Given the description of an element on the screen output the (x, y) to click on. 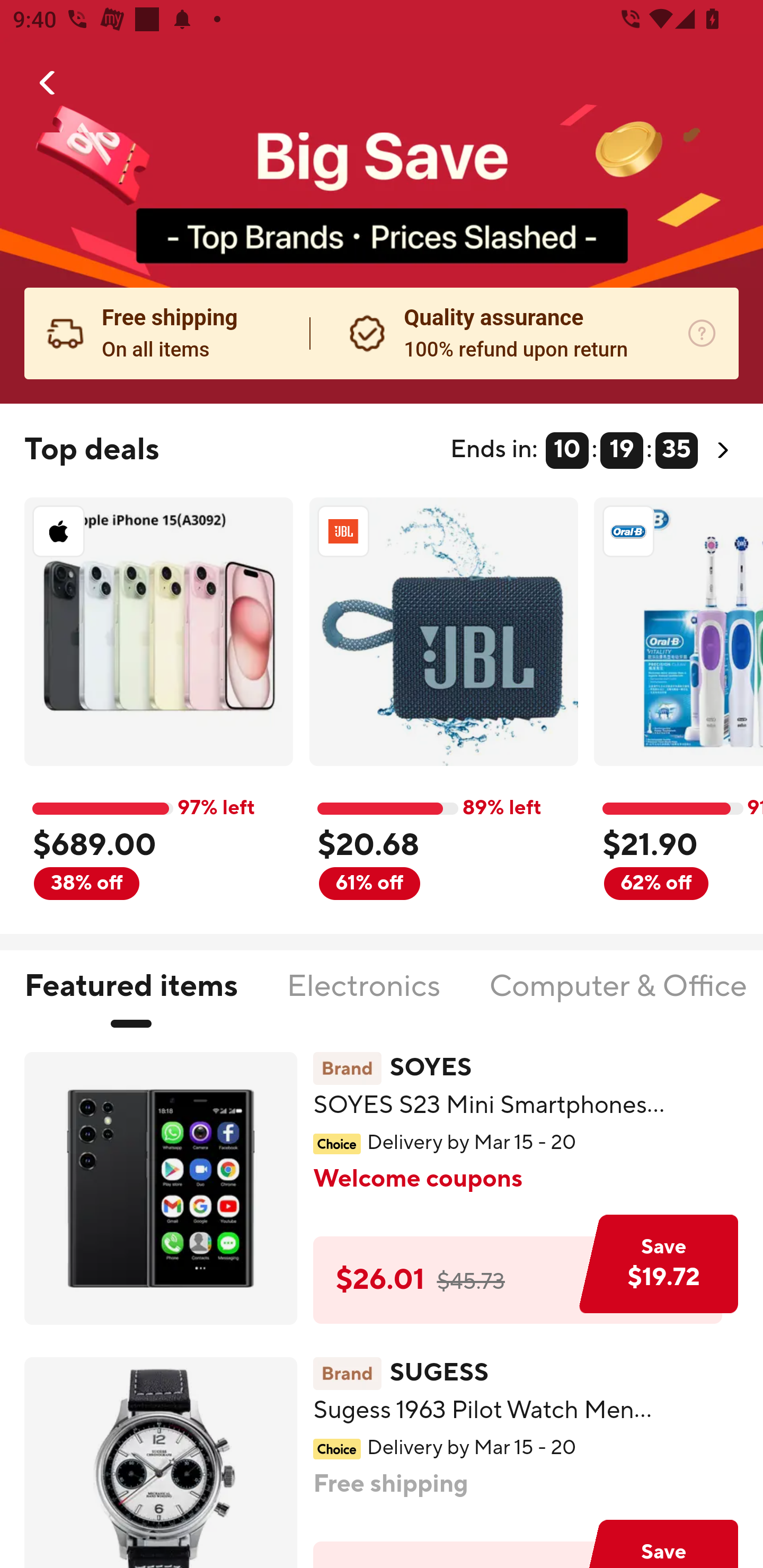
 (48, 82)
Featured items (130, 996)
Electronics (363, 996)
Computer & Office (617, 996)
